Given the description of an element on the screen output the (x, y) to click on. 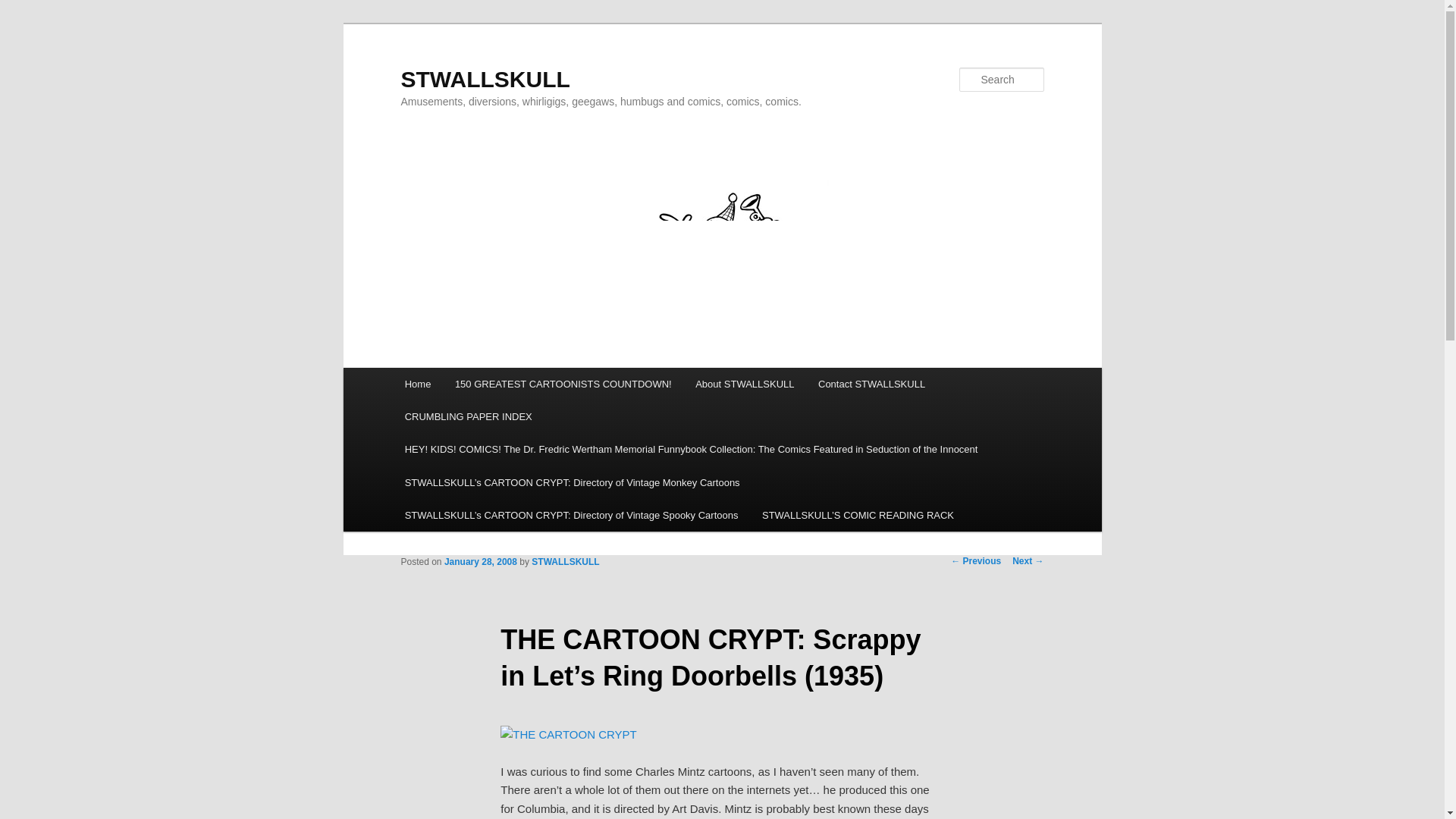
About STWALLSKULL (744, 383)
January 28, 2008 (480, 561)
STWALLSKULL (564, 561)
Search (24, 8)
View all posts by STWALLSKULL (564, 561)
8:10 am (480, 561)
Home (417, 383)
CRUMBLING PAPER INDEX (468, 416)
Contact STWALLSKULL (871, 383)
STWALLSKULL (484, 78)
150 GREATEST CARTOONISTS COUNTDOWN! (562, 383)
